Given the description of an element on the screen output the (x, y) to click on. 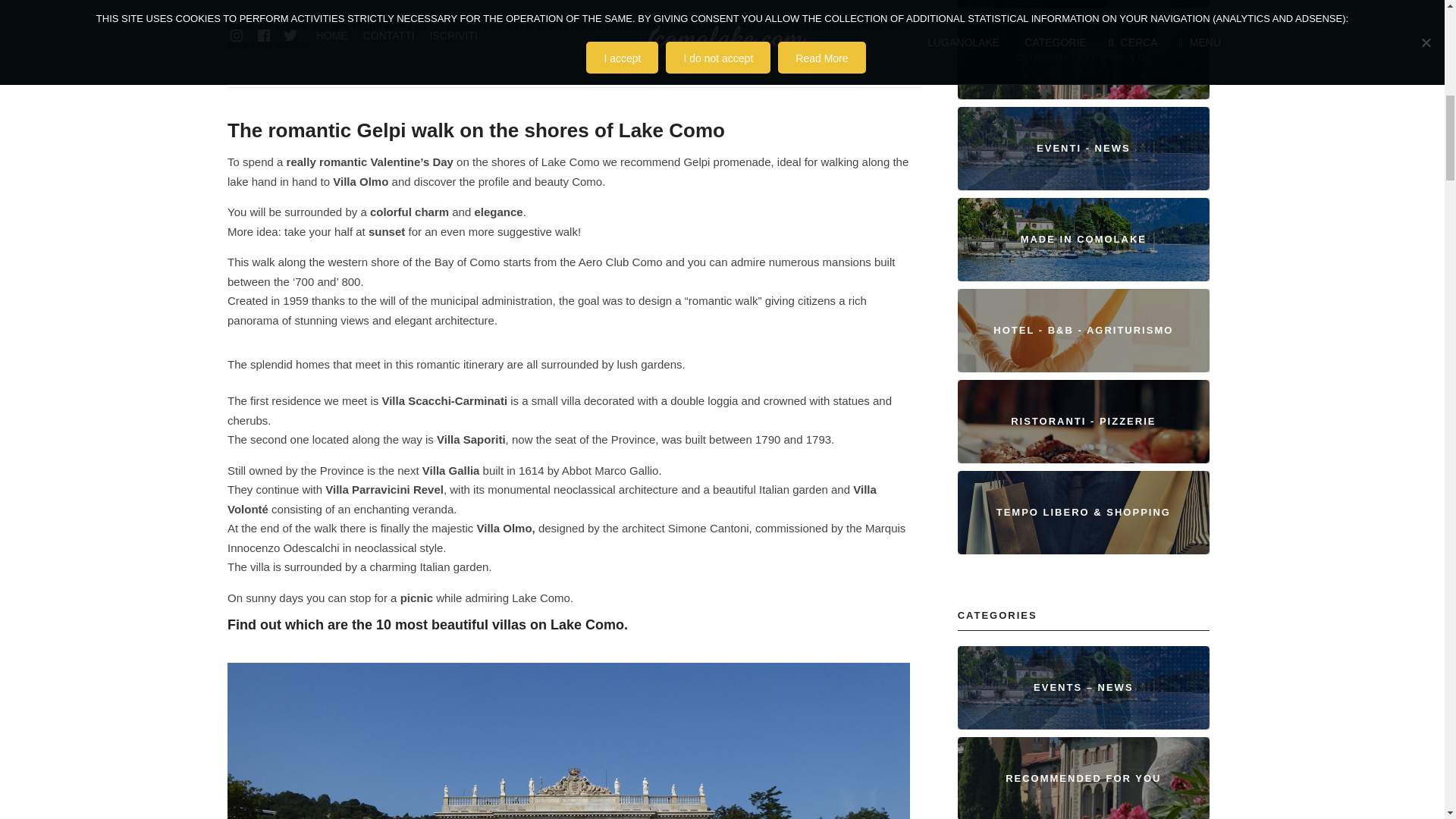
san-valentino-comolaked (568, 740)
